Given the description of an element on the screen output the (x, y) to click on. 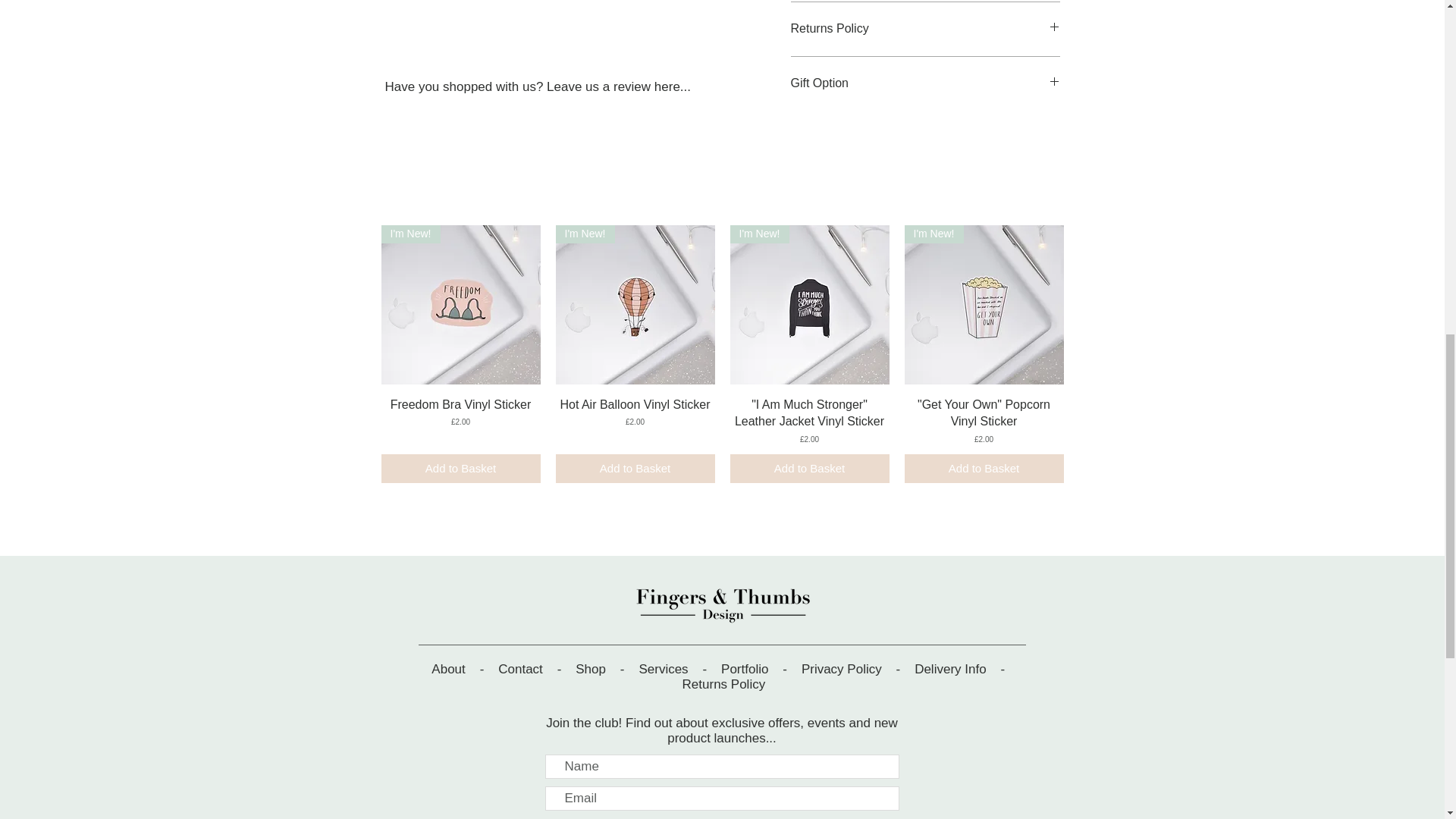
Returns Policy (924, 28)
Gift Option (924, 83)
Add to Basket (808, 469)
Add to Basket (983, 469)
I'm New! (808, 304)
Add to Basket (634, 469)
I'm New! (460, 304)
I'm New! (983, 304)
Add to Basket (460, 469)
I'm New! (634, 304)
